Given the description of an element on the screen output the (x, y) to click on. 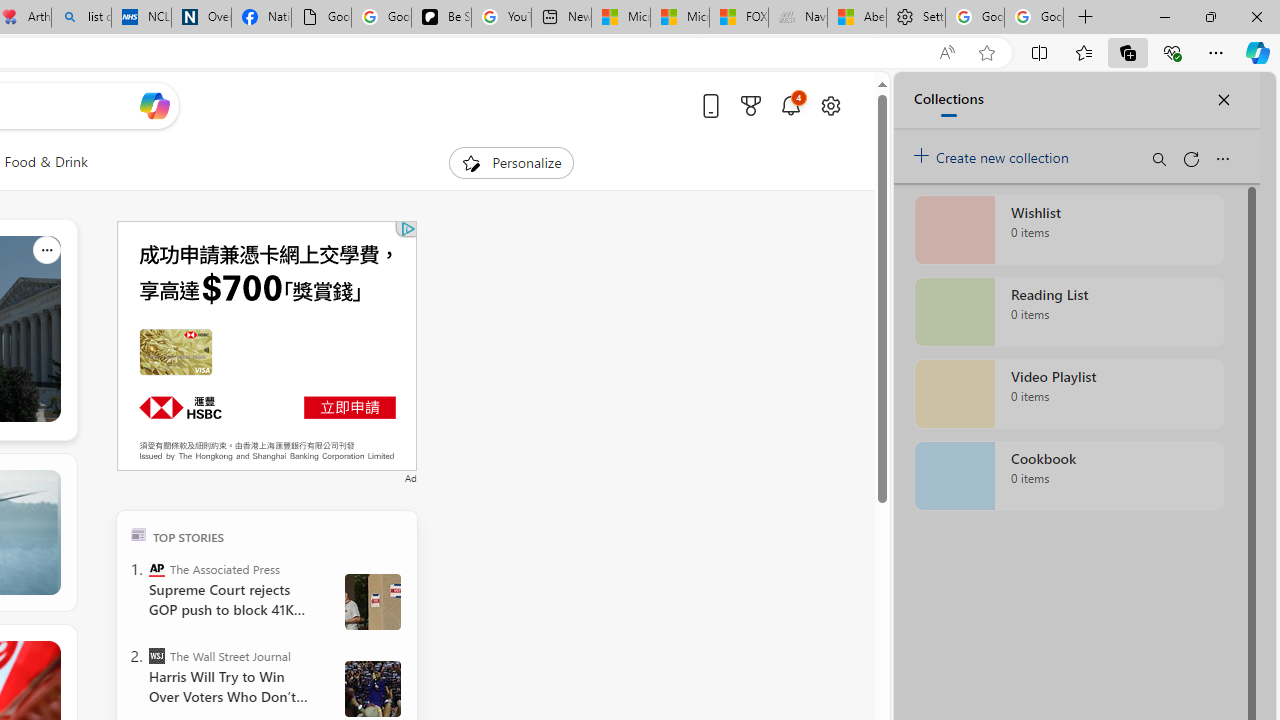
Be Smart | creating Science videos | Patreon (441, 17)
FOX News - MSN (738, 17)
AutomationID: canvas (266, 345)
TOP (138, 534)
Ad (410, 476)
Aberdeen, Hong Kong SAR hourly forecast | Microsoft Weather (856, 17)
To get missing image descriptions, open the context menu. (471, 162)
Notifications (790, 105)
